Given the description of an element on the screen output the (x, y) to click on. 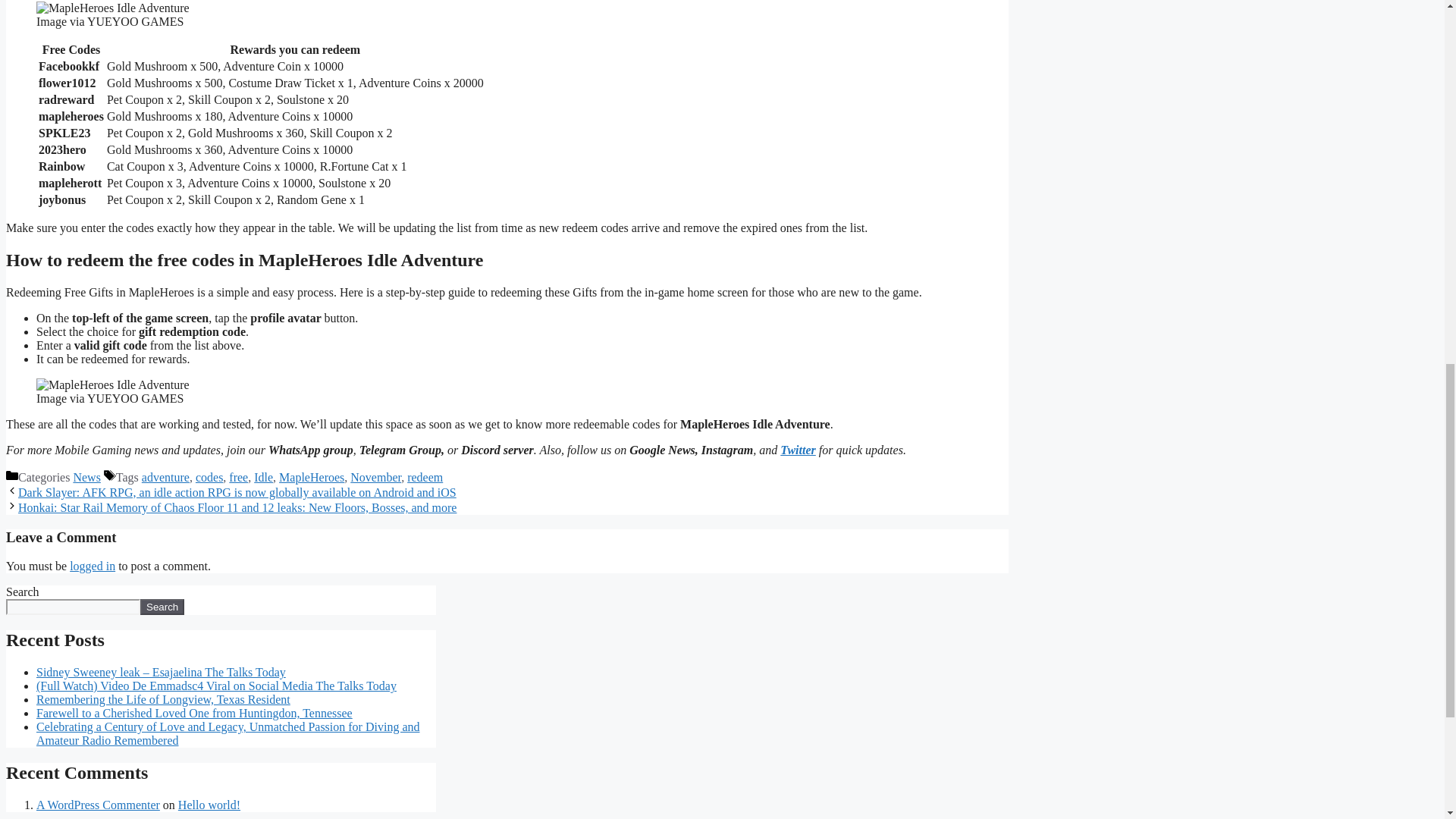
logged in (92, 565)
News (86, 477)
adventure (165, 477)
A WordPress Commenter (98, 804)
Remembering the Life of Longview, Texas Resident (162, 698)
codes (208, 477)
Twitter (797, 449)
MapleHeroes (311, 477)
Farewell to a Cherished Loved One from Huntingdon, Tennessee (194, 712)
redeem (424, 477)
Hello world! (208, 804)
Search (161, 606)
free (237, 477)
